Given the description of an element on the screen output the (x, y) to click on. 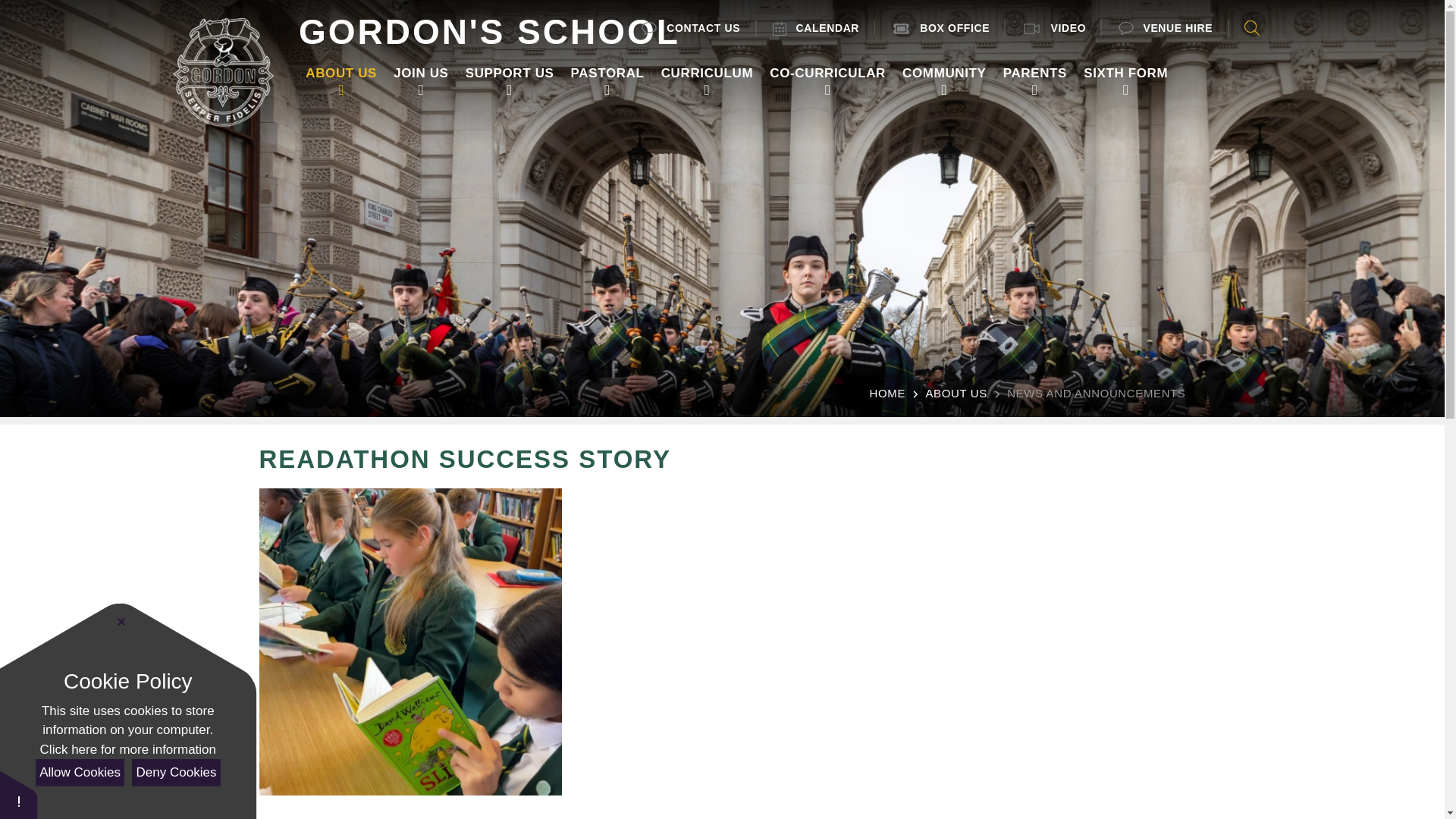
See cookie policy (127, 750)
ABOUT US (341, 72)
Allow Cookies (78, 772)
Deny Cookies (175, 772)
Close Cookie Settings (121, 621)
JOIN US (420, 72)
